Given the description of an element on the screen output the (x, y) to click on. 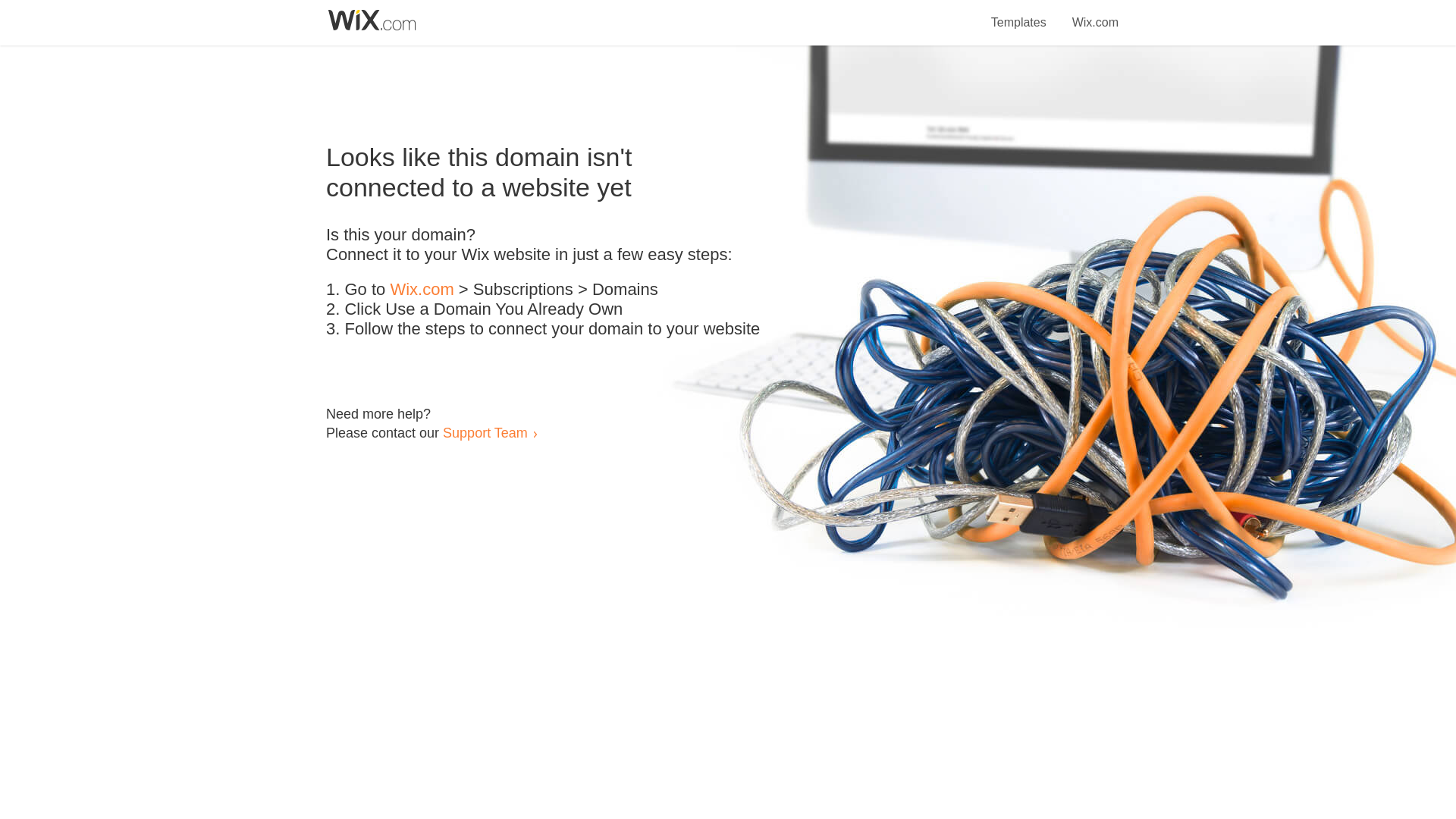
Templates (1018, 14)
Wix.com (1095, 14)
Support Team (484, 432)
Wix.com (421, 289)
